Given the description of an element on the screen output the (x, y) to click on. 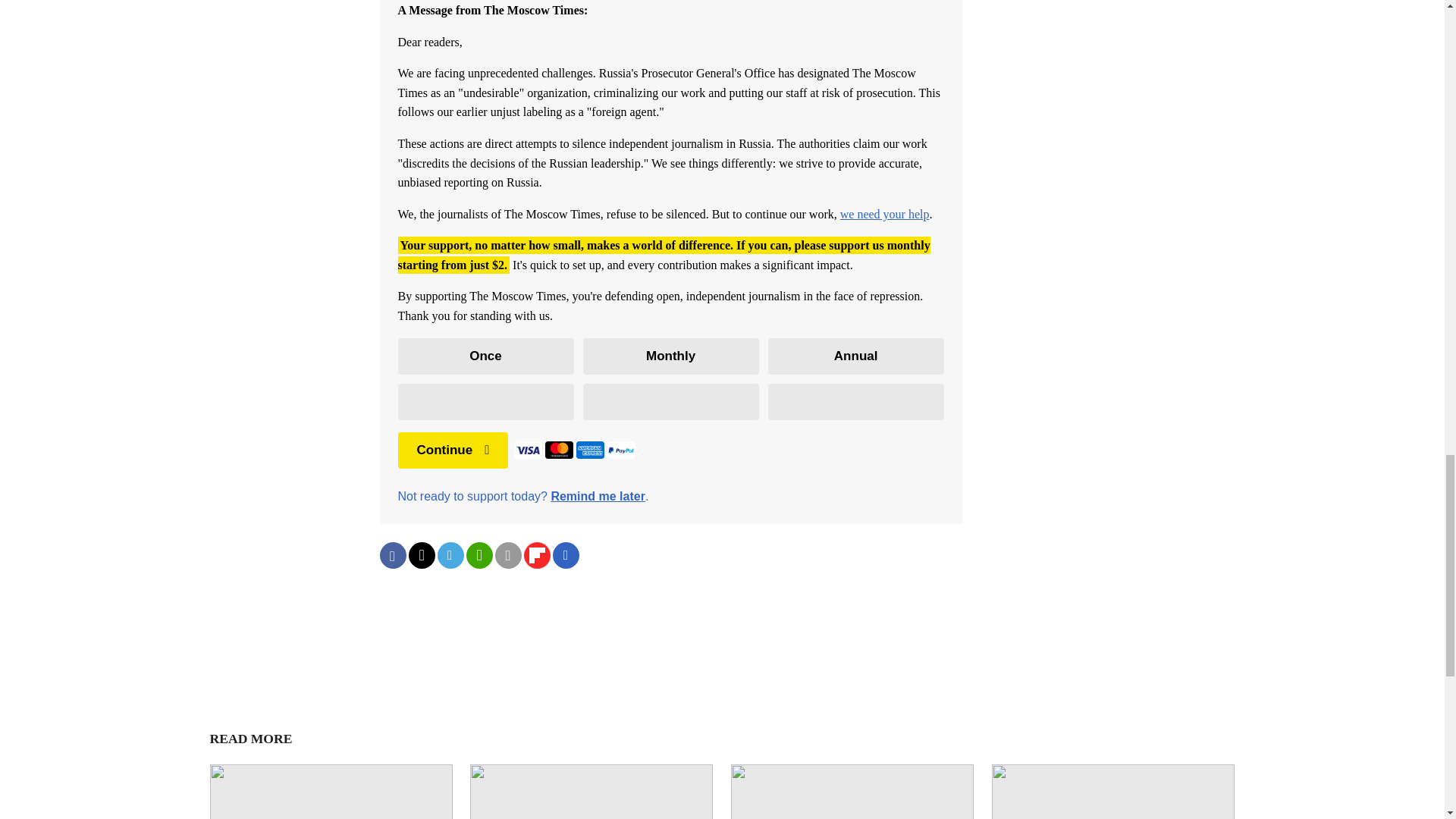
Share on Telegram (449, 555)
Share on Facebook (392, 555)
we need your help (885, 214)
Share on Flipboard (536, 555)
Share on Twitter (420, 555)
